Given the description of an element on the screen output the (x, y) to click on. 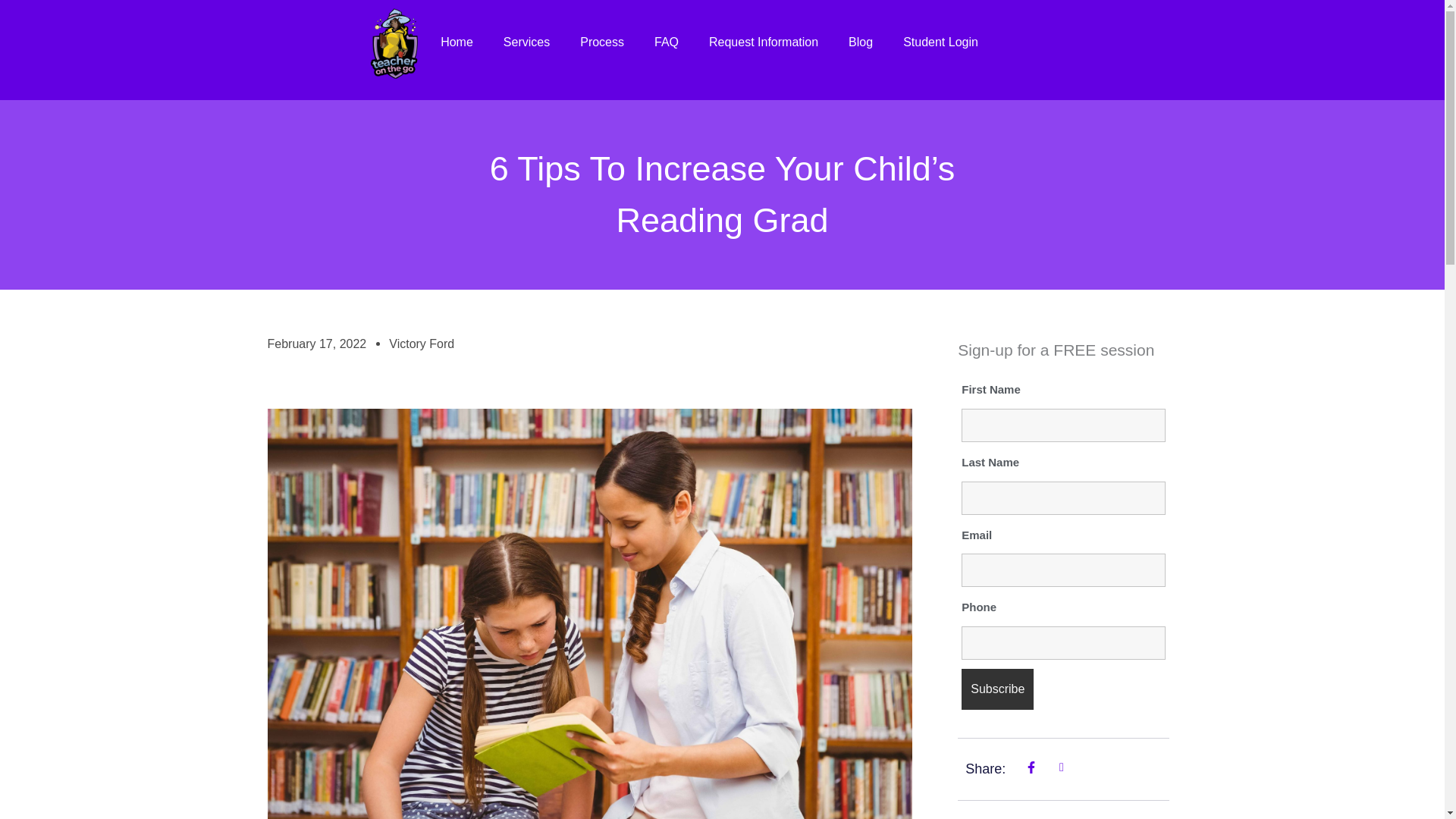
Subscribe (996, 689)
Request Information (763, 42)
FAQ (666, 42)
Victory Ford (421, 343)
Home (456, 42)
February 17, 2022 (316, 343)
Student Login (940, 42)
Blog (860, 42)
Process (601, 42)
Subscribe (996, 689)
Services (525, 42)
